Given the description of an element on the screen output the (x, y) to click on. 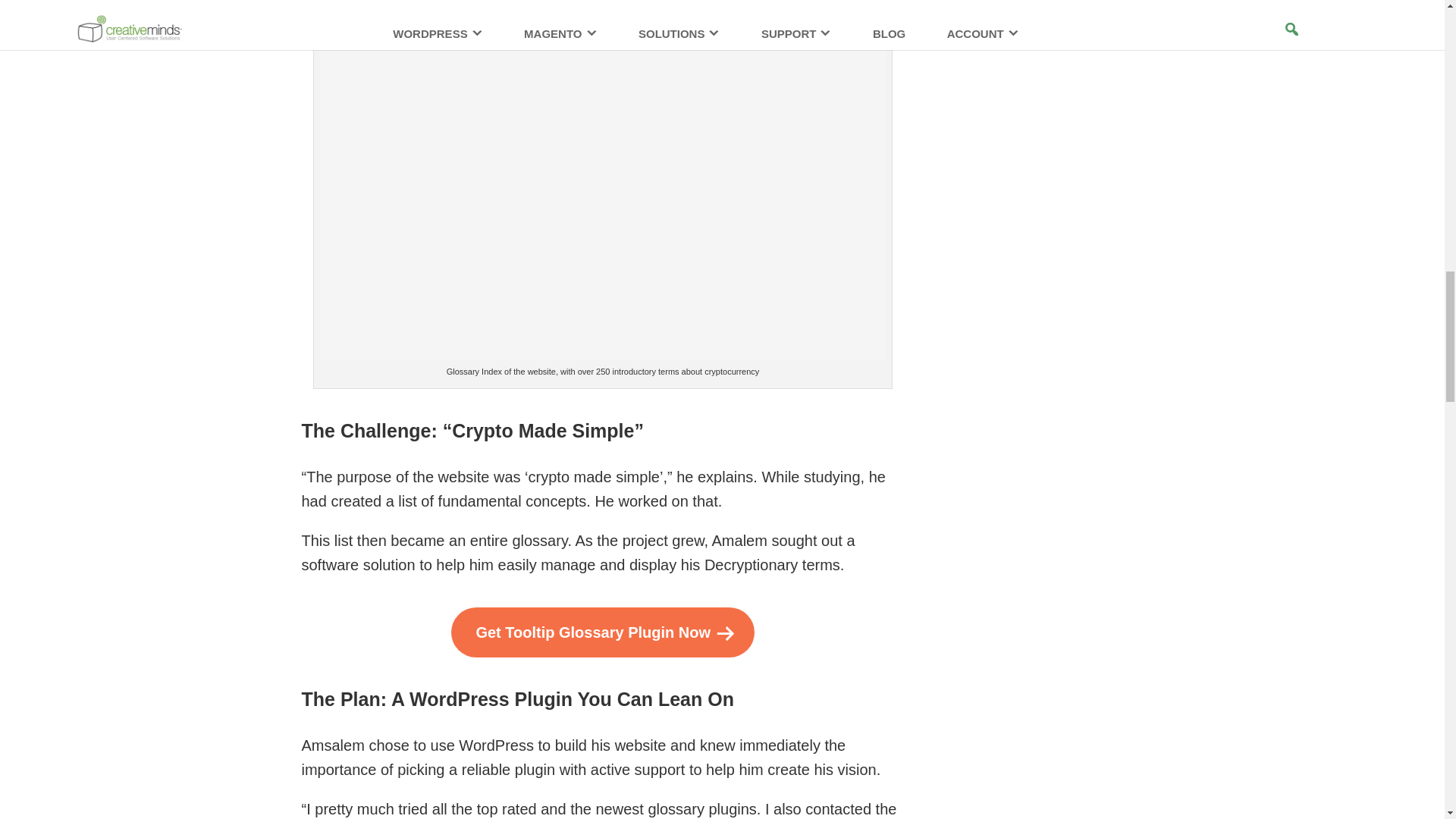
Get Tooltip Glossary Plugin Now (602, 632)
